Given the description of an element on the screen output the (x, y) to click on. 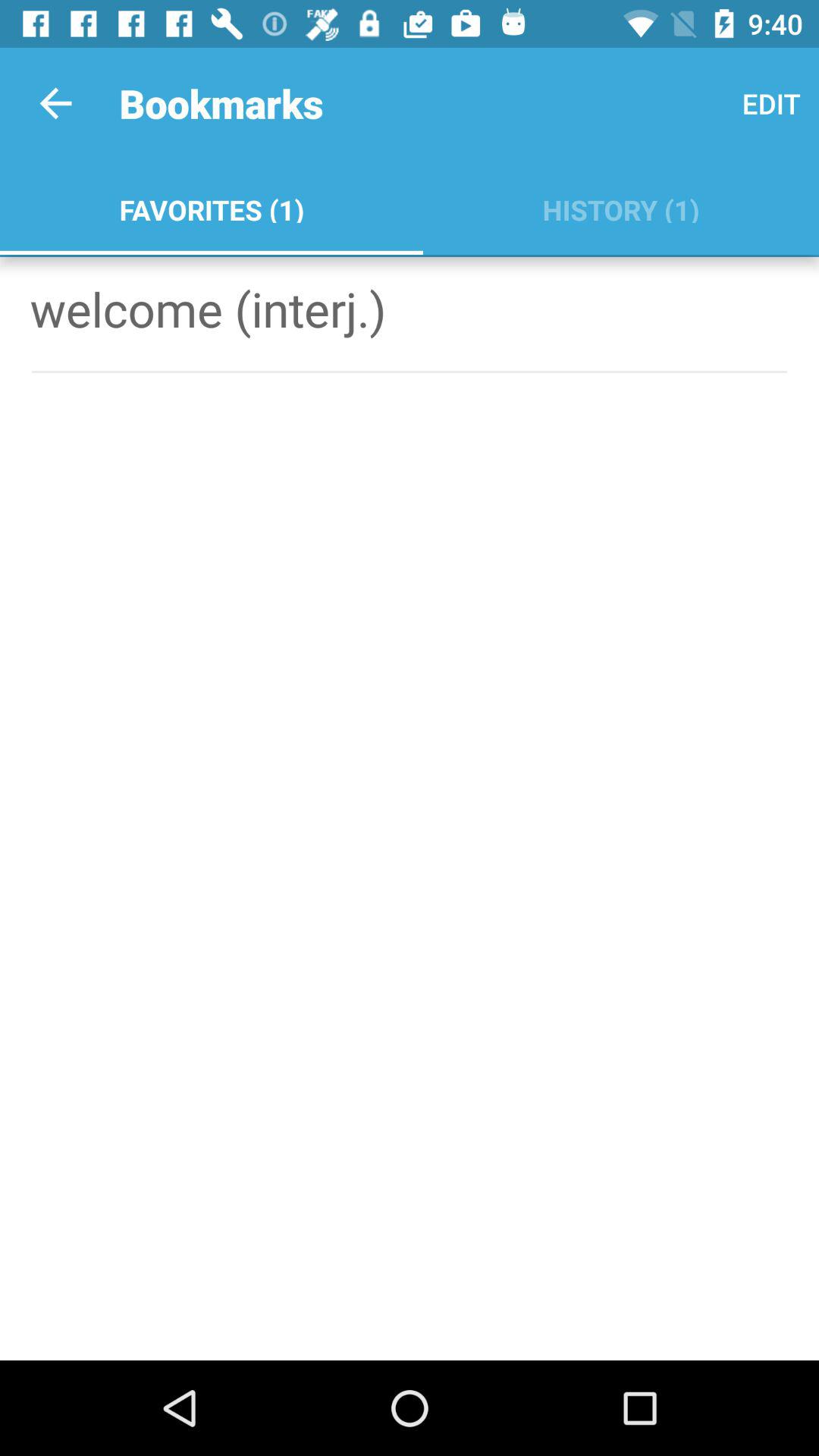
open the app above the history (1) (771, 103)
